Given the description of an element on the screen output the (x, y) to click on. 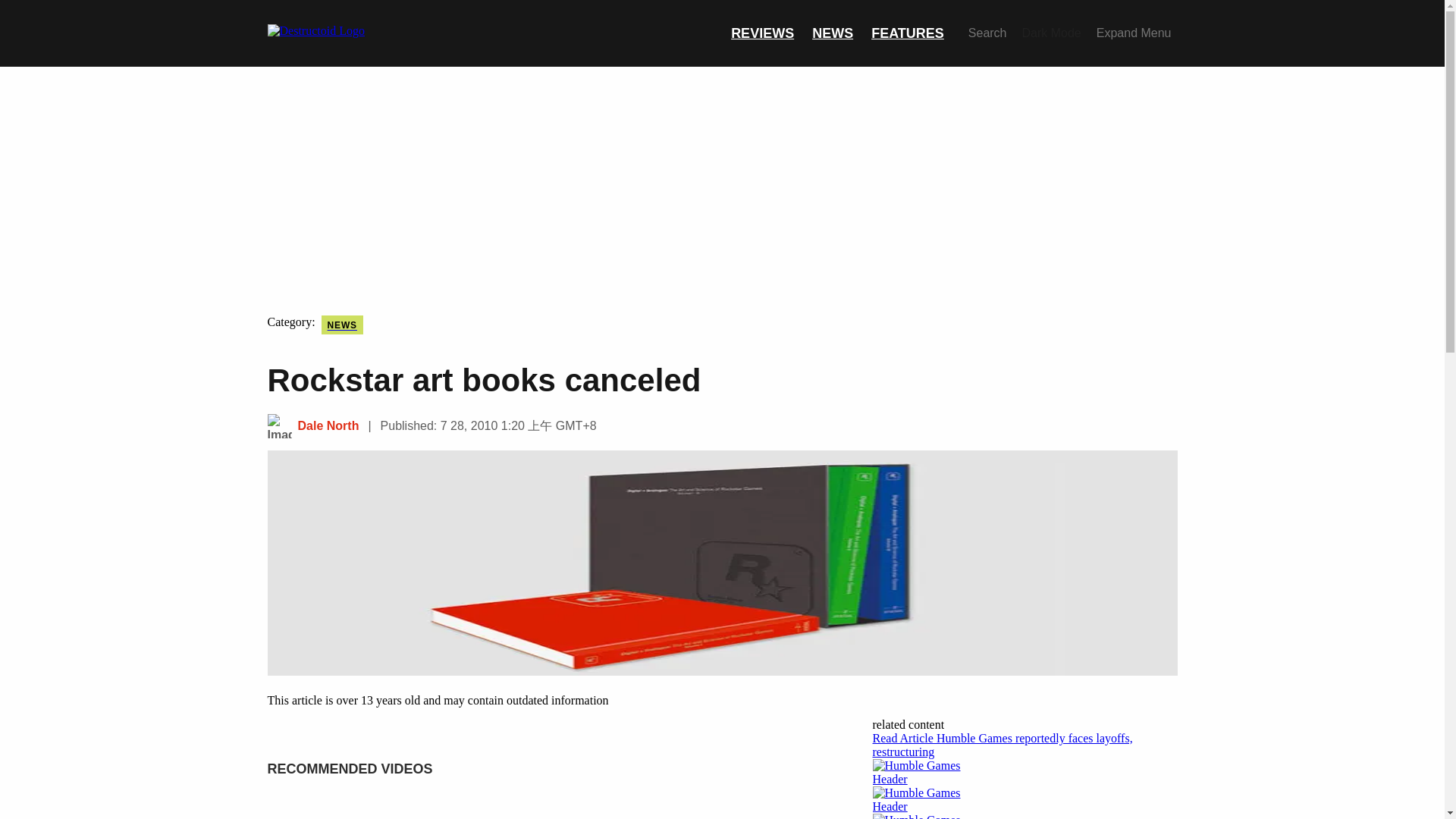
NEWS (832, 32)
Expand Menu (1133, 32)
Search (987, 32)
REVIEWS (761, 32)
FEATURES (906, 32)
Dark Mode (1051, 32)
NEWS (341, 324)
